Given the description of an element on the screen output the (x, y) to click on. 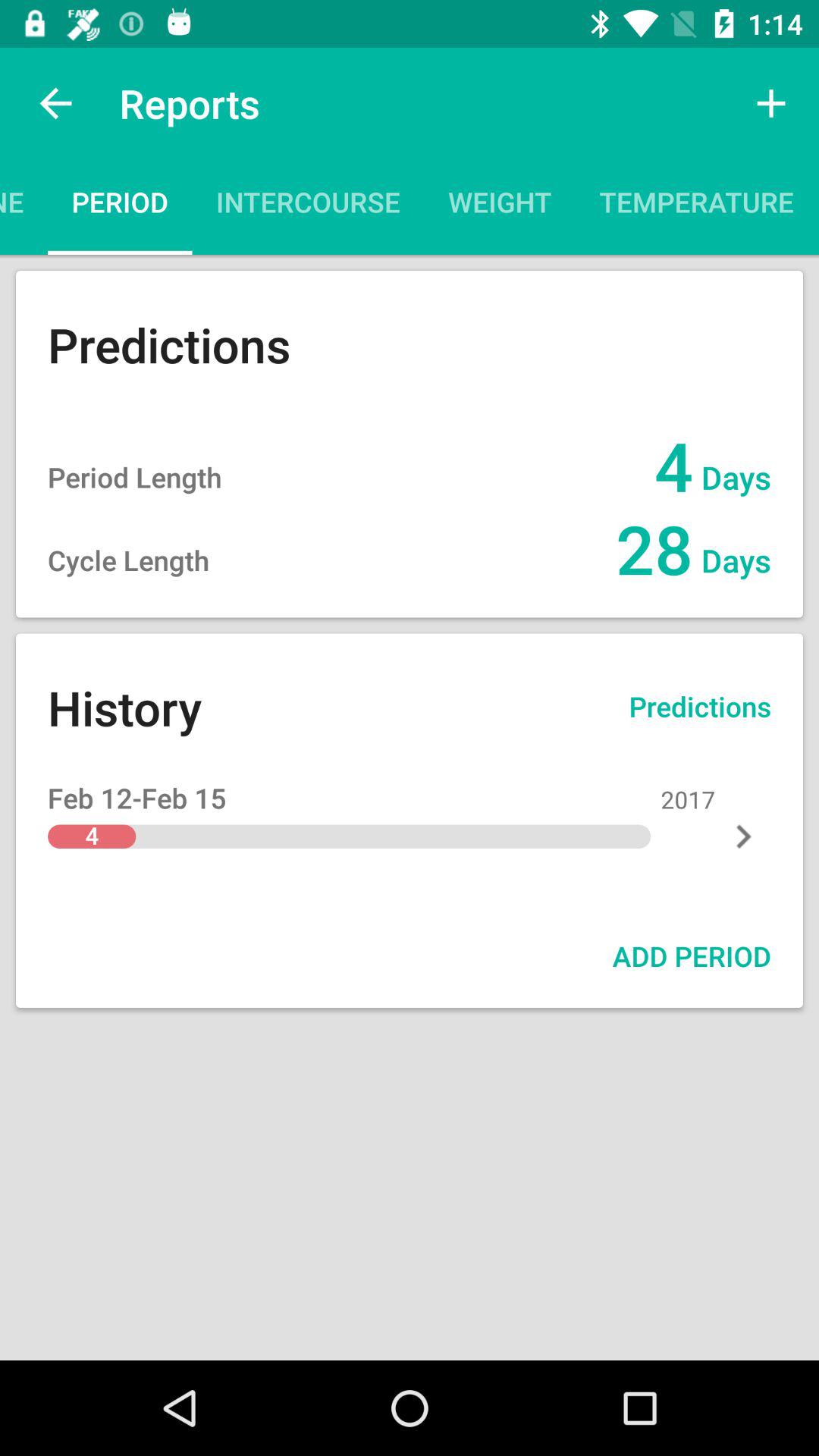
scroll to add period (691, 955)
